Given the description of an element on the screen output the (x, y) to click on. 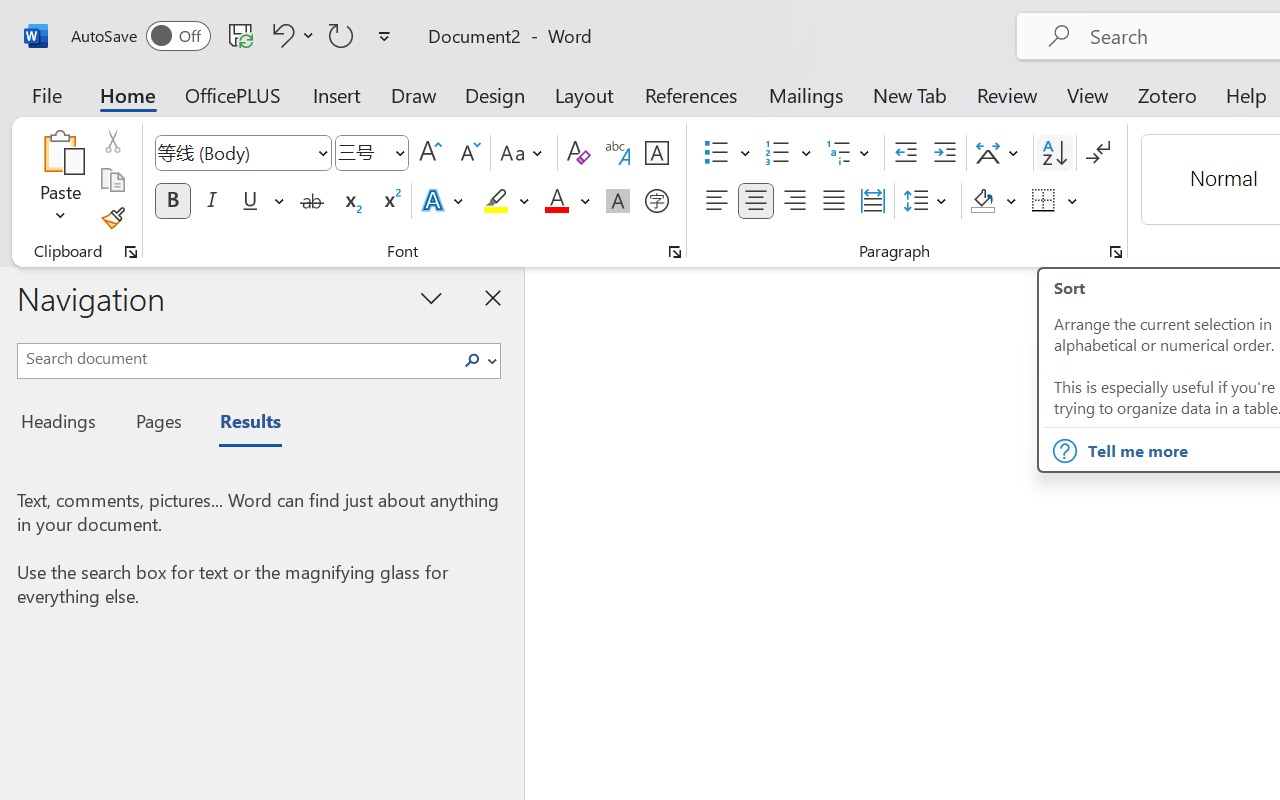
Center (756, 201)
Justify (834, 201)
Align Right (794, 201)
Customize Quick Access Toolbar (384, 35)
Home (127, 94)
Borders (1055, 201)
Font (234, 152)
Align Left (716, 201)
Quick Access Toolbar (233, 36)
Font (242, 153)
Enclose Characters... (656, 201)
Bullets (716, 153)
Paragraph... (1115, 252)
Insert (337, 94)
Font Color (567, 201)
